Given the description of an element on the screen output the (x, y) to click on. 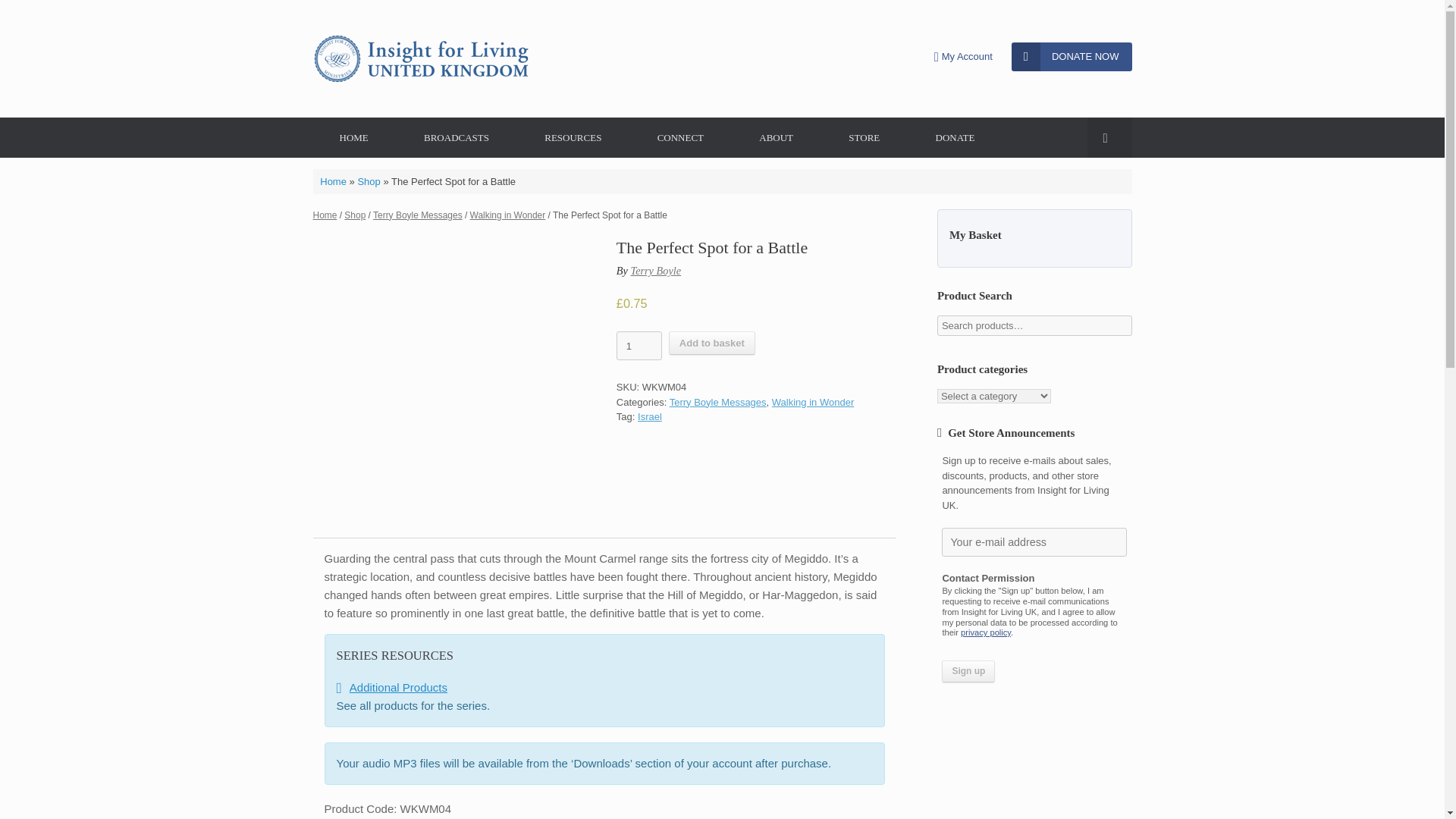
1 (638, 345)
BROADCASTS (456, 137)
CONNECT (680, 137)
RESOURCES (572, 137)
Sign up (968, 671)
HOME (353, 137)
My Account (963, 56)
DONATE (954, 137)
STORE (863, 137)
DONATE NOW (1071, 56)
ABOUT (775, 137)
Insight for Living UK (420, 58)
